Given the description of an element on the screen output the (x, y) to click on. 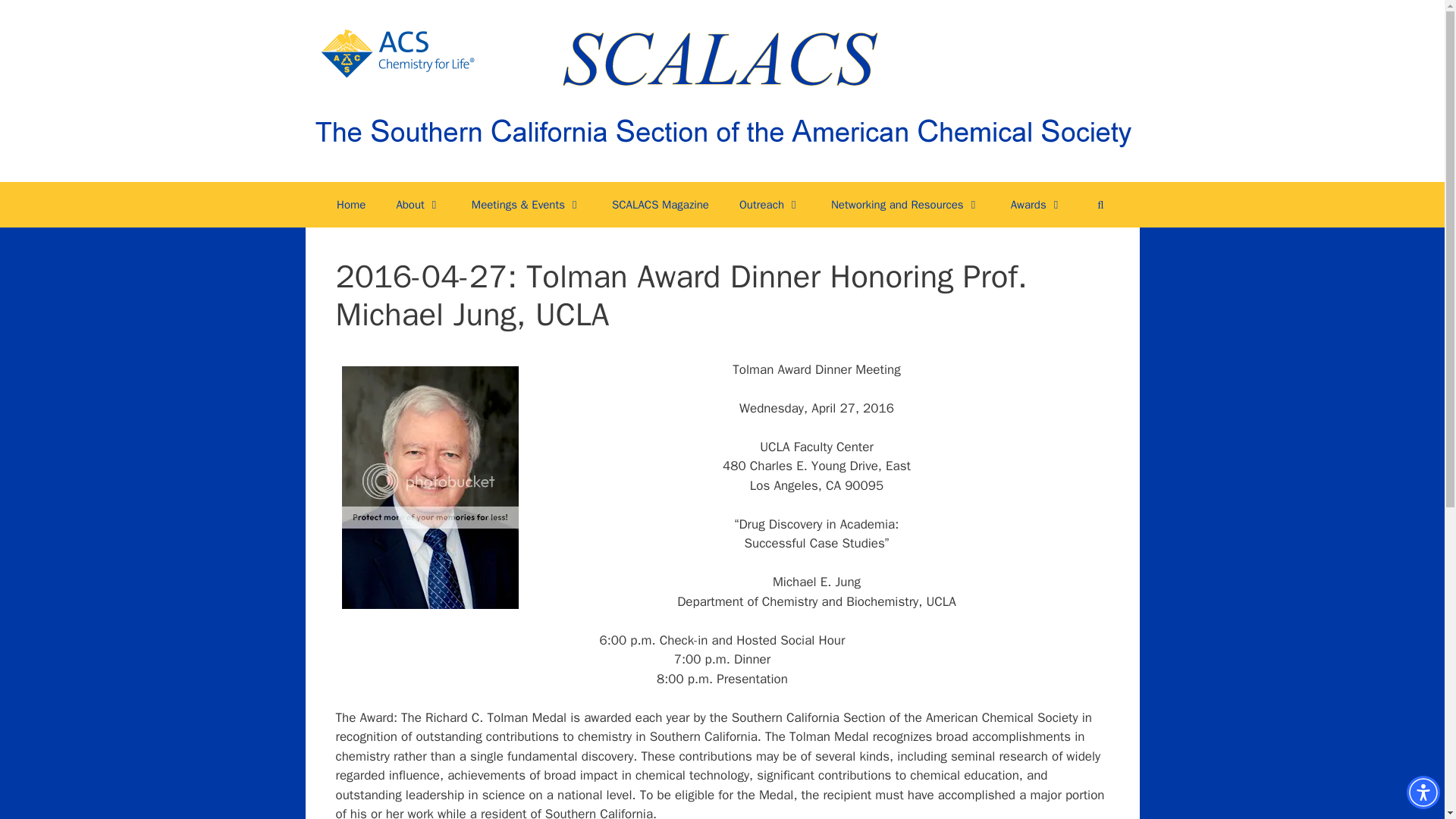
Home (350, 204)
Networking and Resources (905, 204)
Outreach (769, 204)
Accessibility Menu (1422, 792)
SCALACS Magazine (659, 204)
About (417, 204)
